Given the description of an element on the screen output the (x, y) to click on. 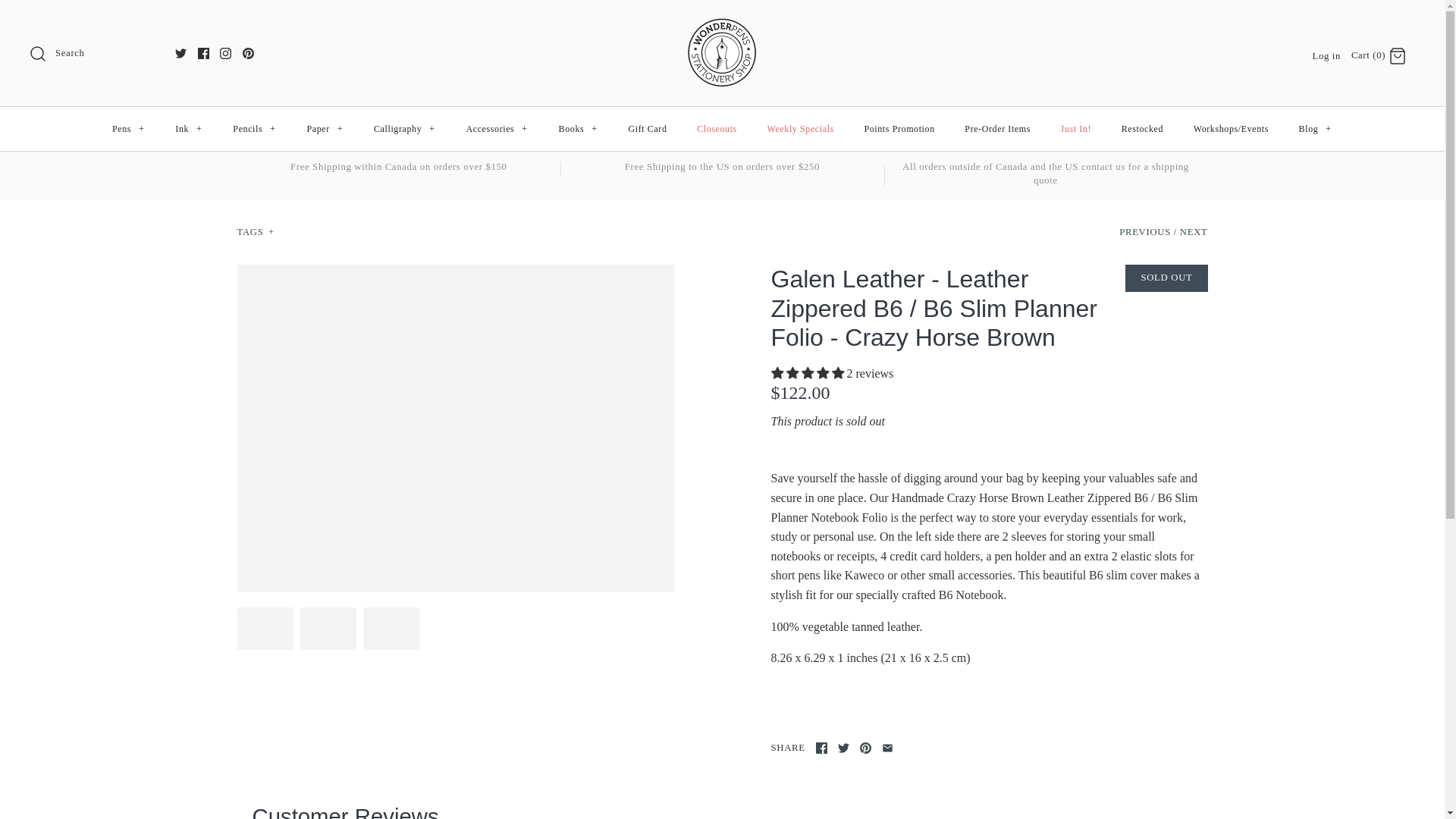
Share on Twitter (843, 747)
Instagram (225, 52)
Instagram (225, 52)
Twitter (180, 52)
Email (887, 747)
Share on Facebook (821, 747)
Pinterest (248, 52)
Twitter (180, 52)
Pinterest (248, 52)
Twitter (843, 747)
Facebook (203, 52)
Cart (1397, 55)
Twitter (180, 52)
Wonder Pens (722, 24)
Pin the main image (865, 747)
